Given the description of an element on the screen output the (x, y) to click on. 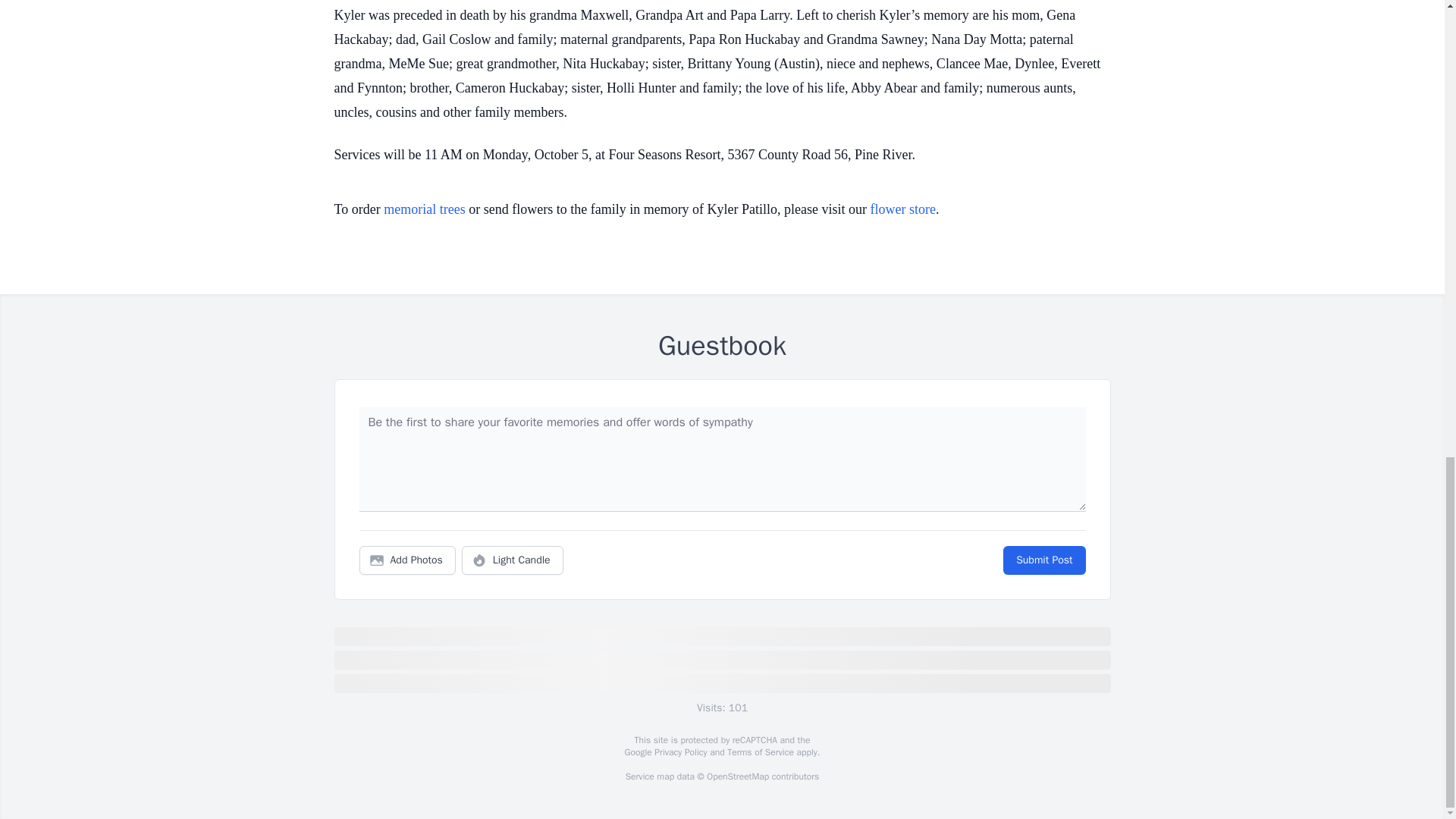
flower store (903, 209)
Privacy Policy (679, 752)
Submit Post (1043, 560)
Light Candle (512, 560)
memorial trees (424, 209)
Add Photos (407, 560)
Terms of Service (759, 752)
OpenStreetMap (737, 776)
